Given the description of an element on the screen output the (x, y) to click on. 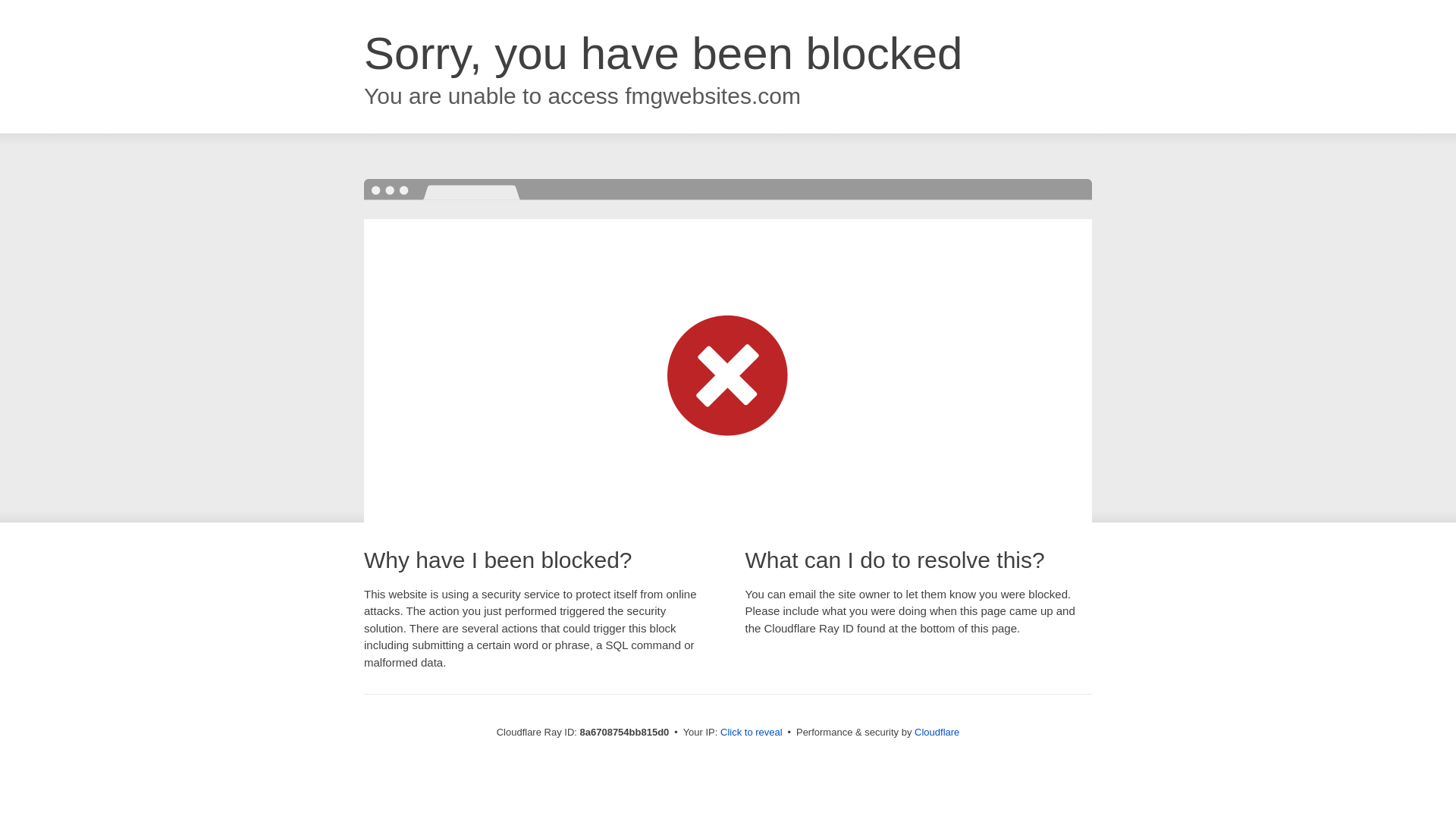
Click to reveal (751, 732)
Cloudflare (936, 731)
